Given the description of an element on the screen output the (x, y) to click on. 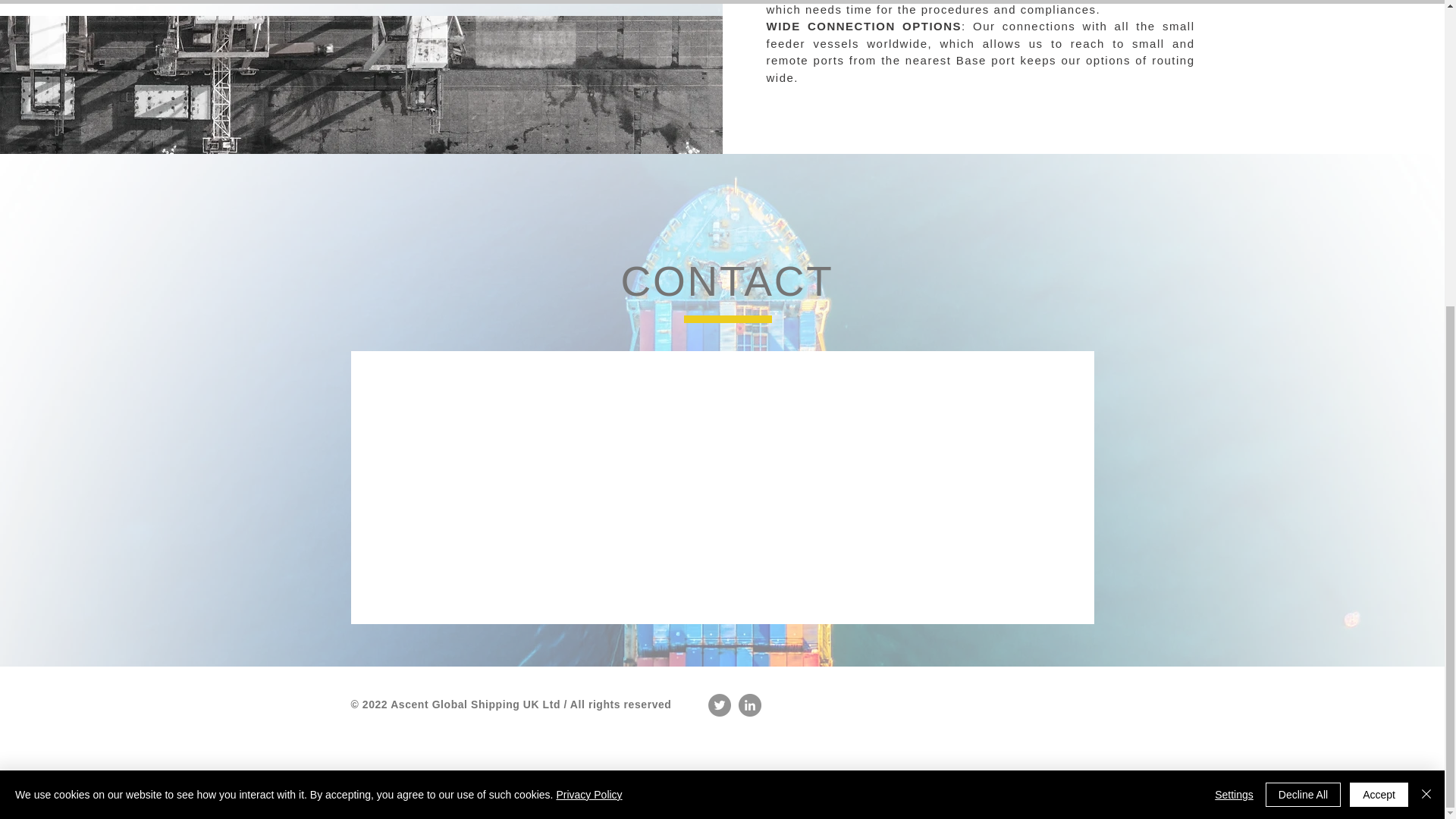
Privacy Policy (588, 312)
Accept (1378, 312)
Decline All (1302, 312)
